Given the description of an element on the screen output the (x, y) to click on. 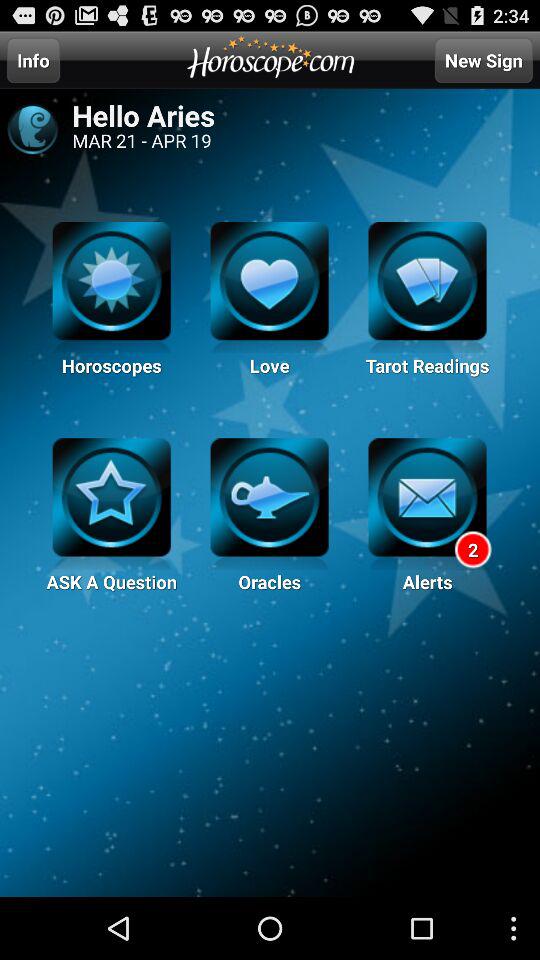
text message inbox (427, 503)
